Given the description of an element on the screen output the (x, y) to click on. 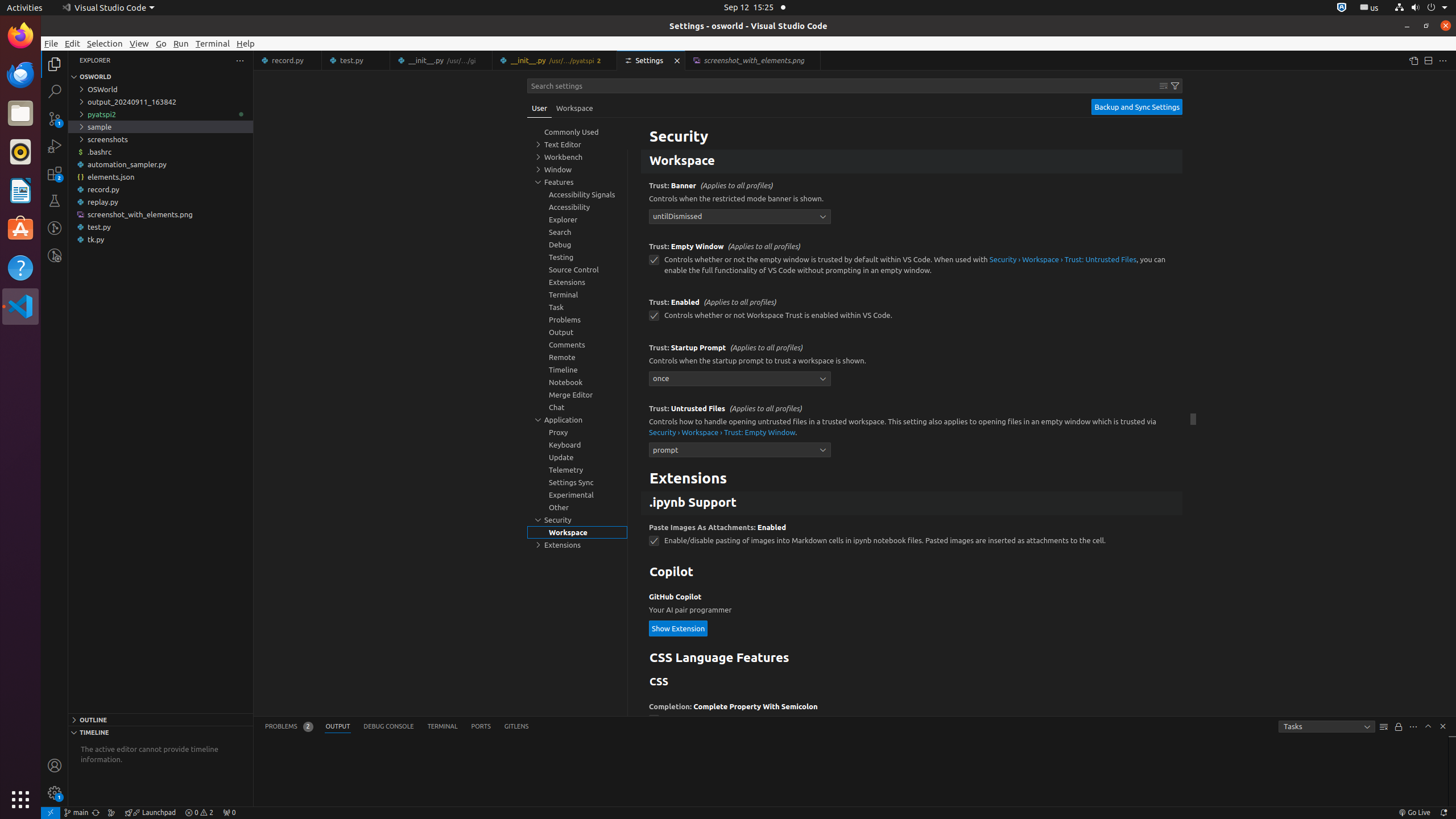
screenshot_with_elements.png, preview Element type: page-tab (753, 60)
Problems, group Element type: tree-item (577, 319)
Selection Element type: push-button (104, 43)
Terminal Element type: push-button (212, 43)
